Given the description of an element on the screen output the (x, y) to click on. 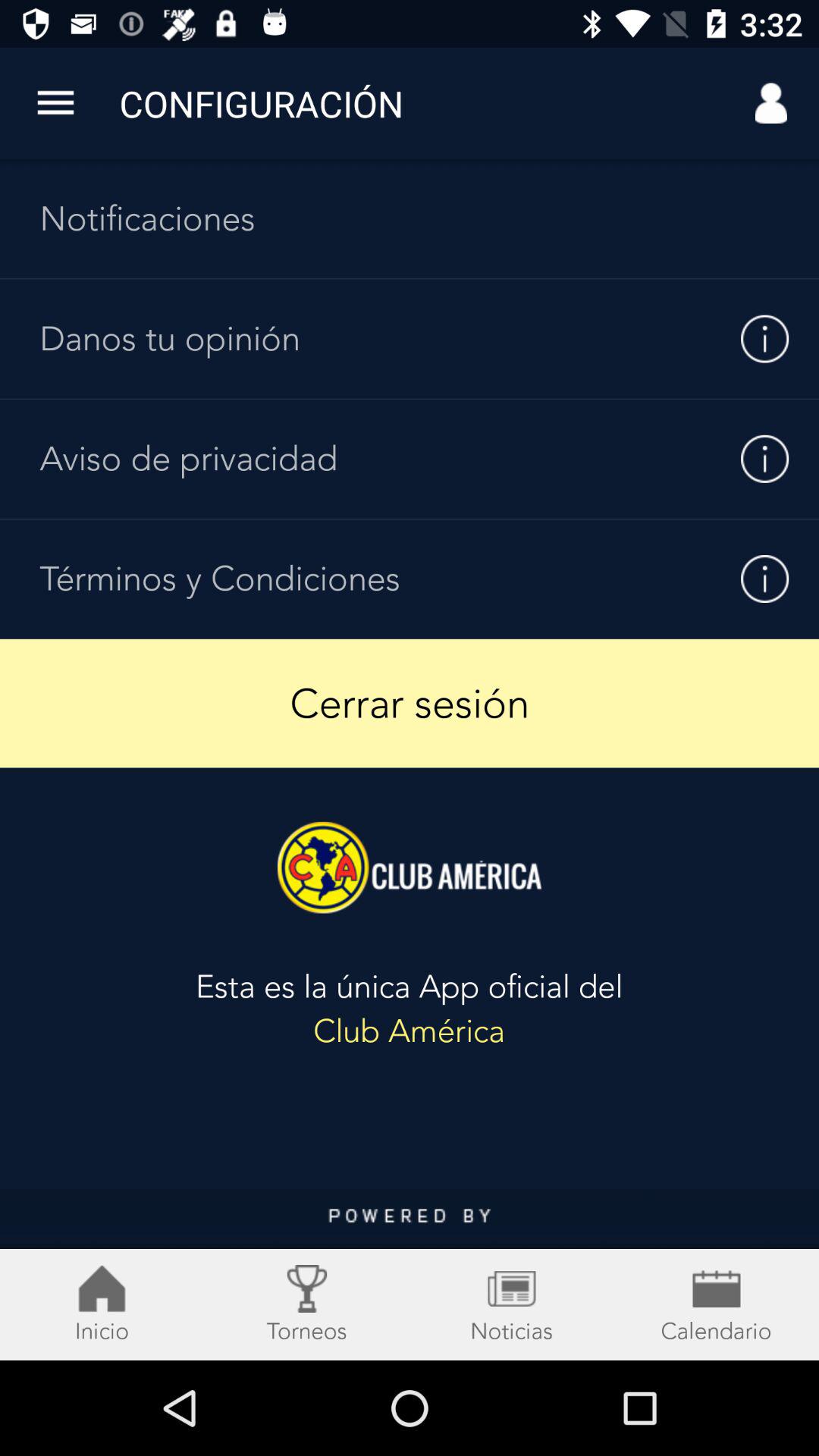
open menu (55, 103)
